Given the description of an element on the screen output the (x, y) to click on. 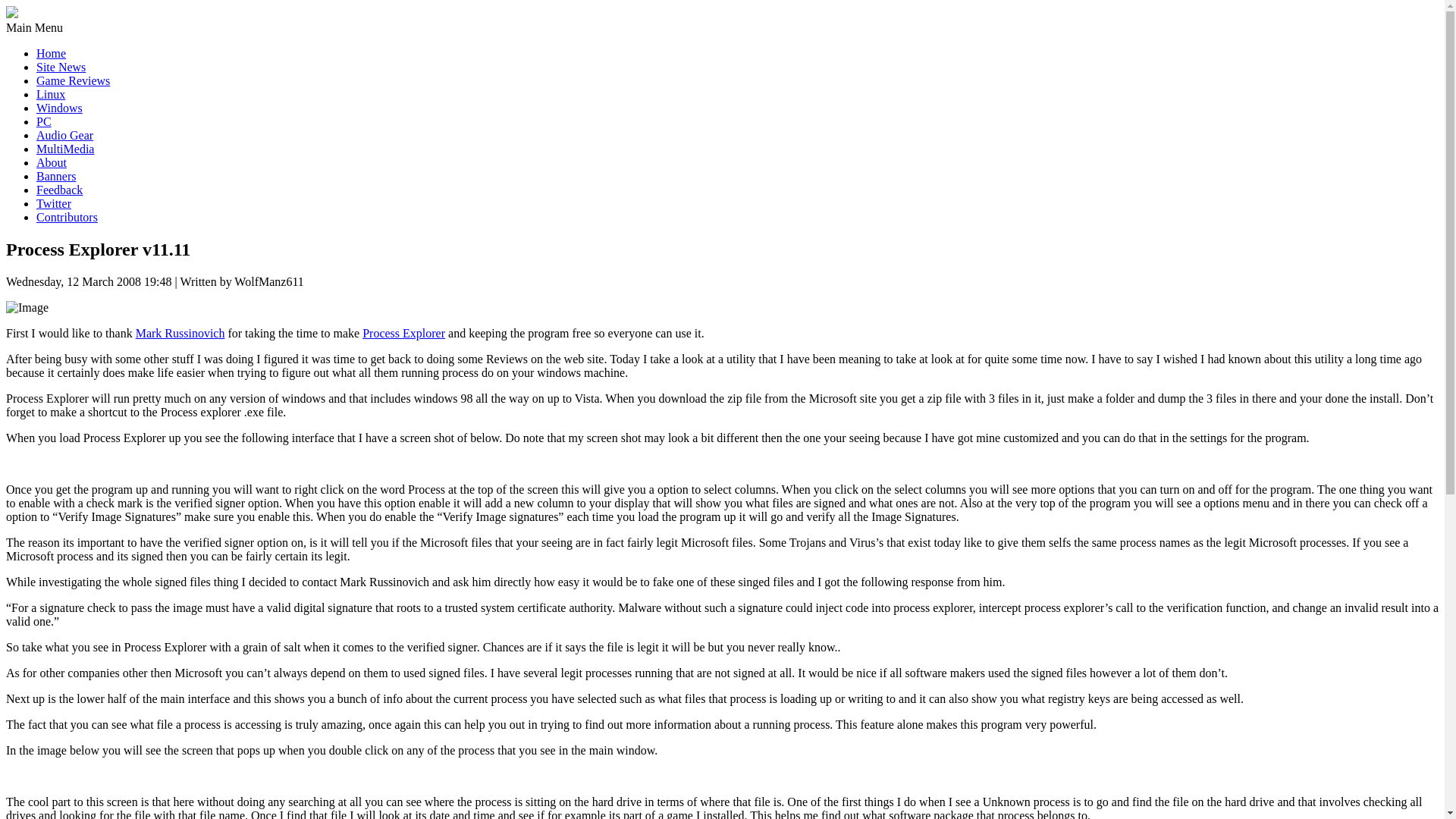
Home (50, 52)
About (51, 162)
Mark Russinovich (180, 332)
Linux (50, 93)
Game Reviews (73, 80)
PC (43, 121)
Twitter (53, 203)
Windows (59, 107)
Process Explorer (403, 332)
Feedback (59, 189)
Site News (60, 66)
Audio Gear (64, 134)
MultiMedia (65, 148)
Contributors (66, 216)
Banners (55, 175)
